Given the description of an element on the screen output the (x, y) to click on. 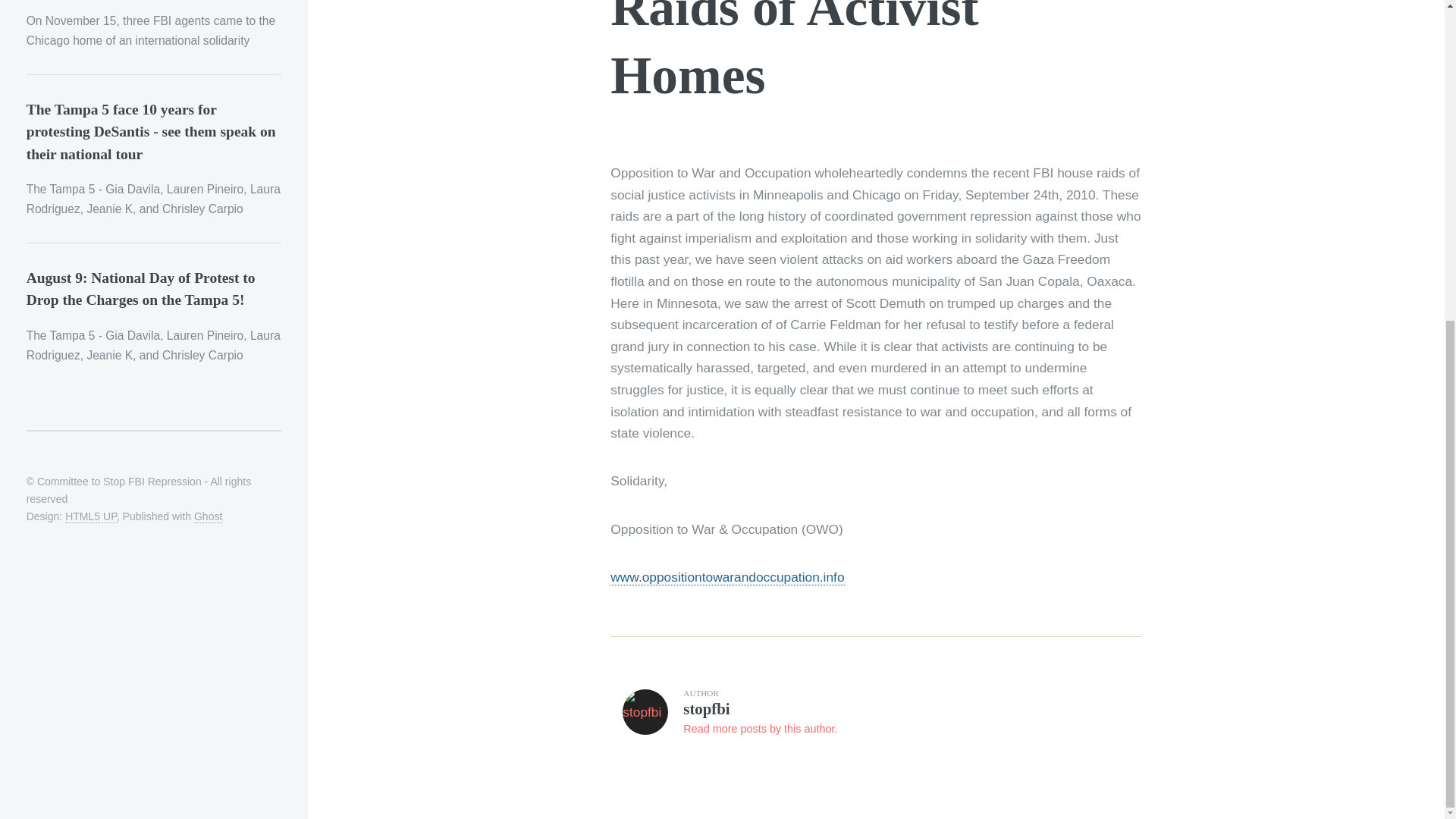
Ghost (207, 516)
HTML5 UP (90, 516)
www.oppositiontowarandoccupation.info (875, 717)
